Given the description of an element on the screen output the (x, y) to click on. 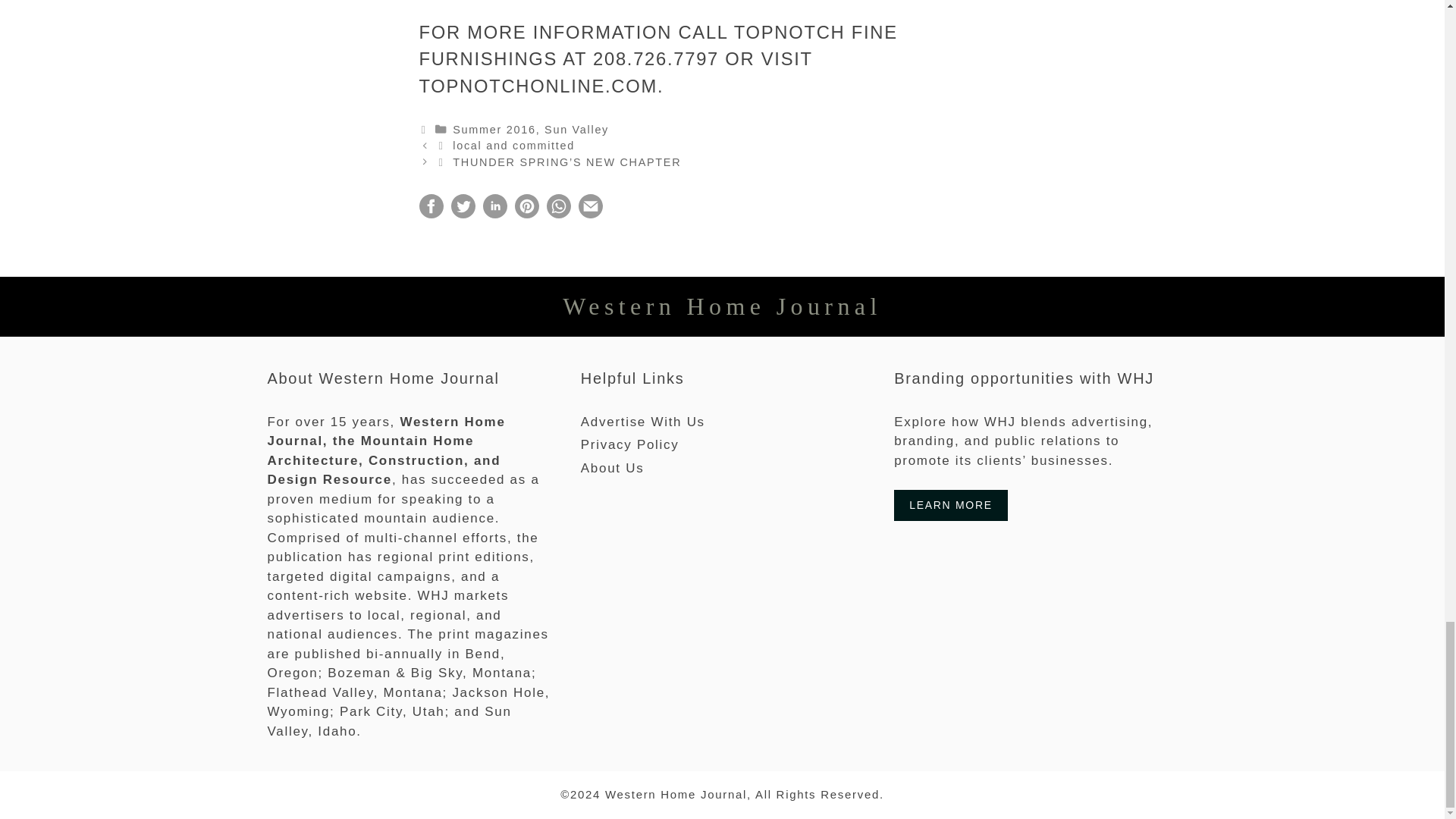
Previous (505, 145)
Next (558, 162)
Share this post! (430, 214)
